Given the description of an element on the screen output the (x, y) to click on. 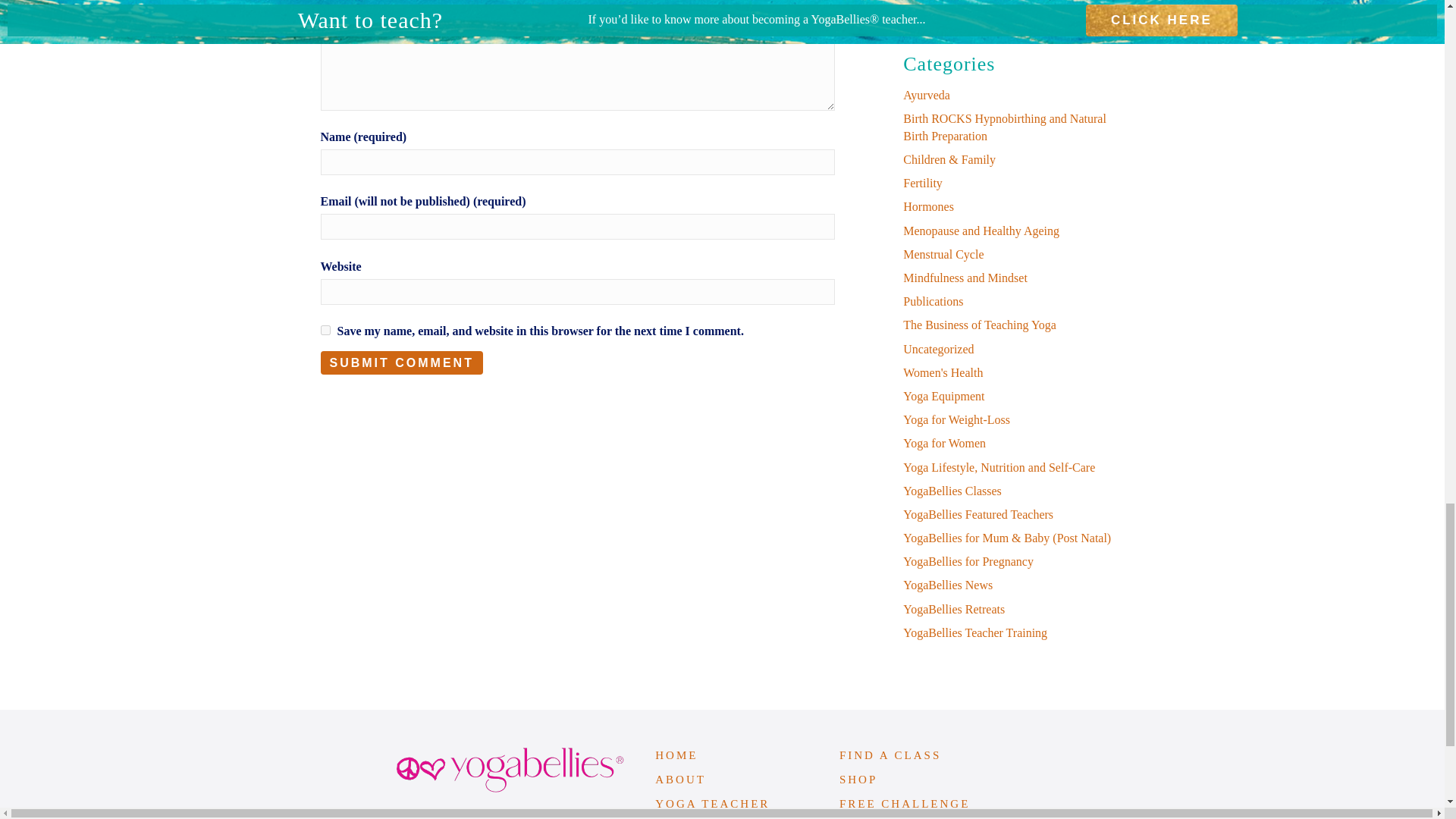
logo retina (510, 769)
yes (325, 329)
Type and press Enter to search. (1013, 2)
Submit Comment (400, 362)
